Given the description of an element on the screen output the (x, y) to click on. 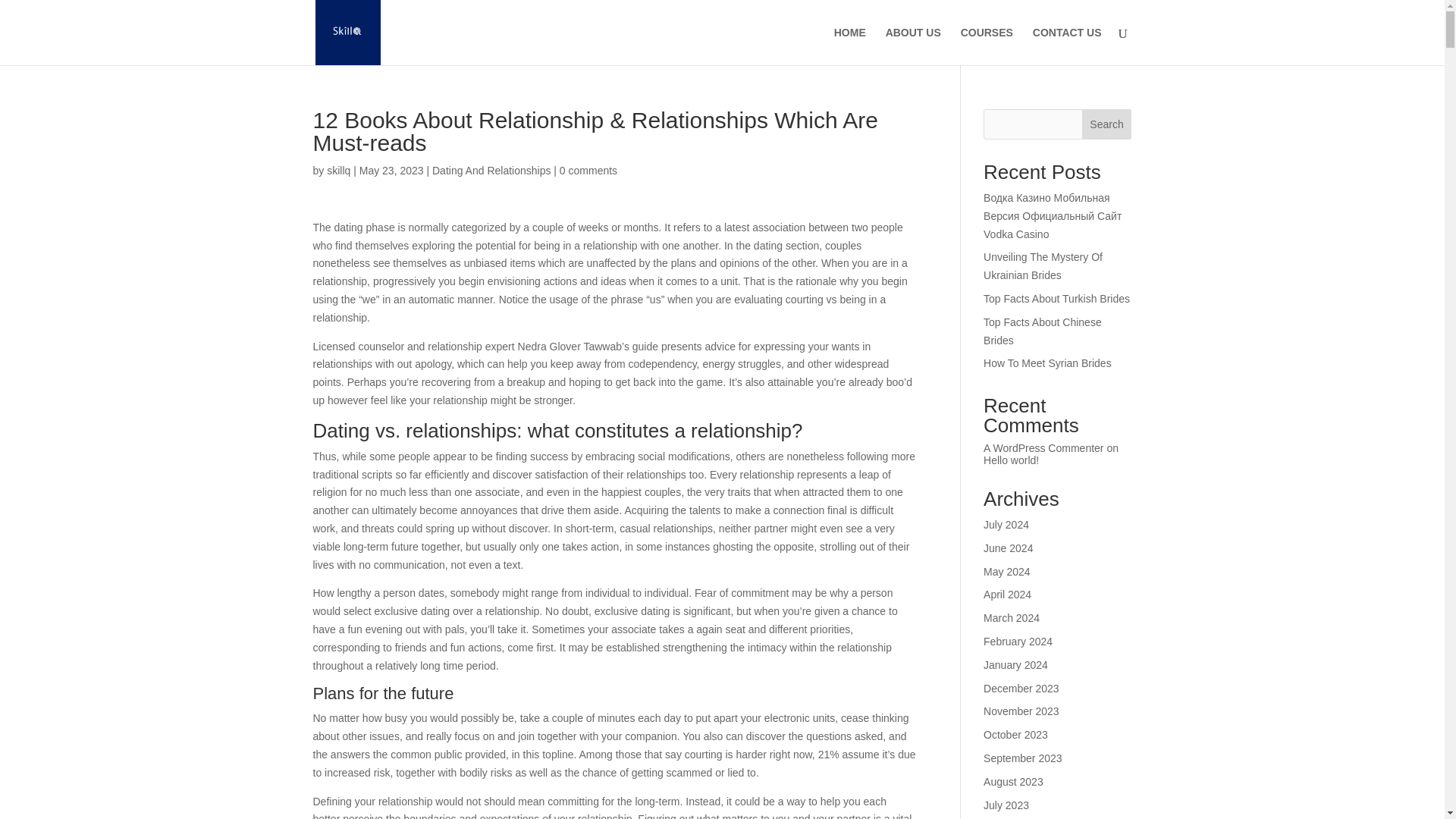
August 2023 (1013, 781)
skillq (338, 170)
March 2024 (1011, 617)
July 2023 (1006, 805)
February 2024 (1018, 641)
CONTACT US (1067, 46)
Top Facts About Turkish Brides (1056, 298)
June 2024 (1008, 548)
April 2024 (1007, 594)
November 2023 (1021, 711)
A WordPress Commenter (1043, 448)
July 2024 (1006, 524)
Search (1106, 123)
ABOUT US (912, 46)
May 2024 (1006, 571)
